Given the description of an element on the screen output the (x, y) to click on. 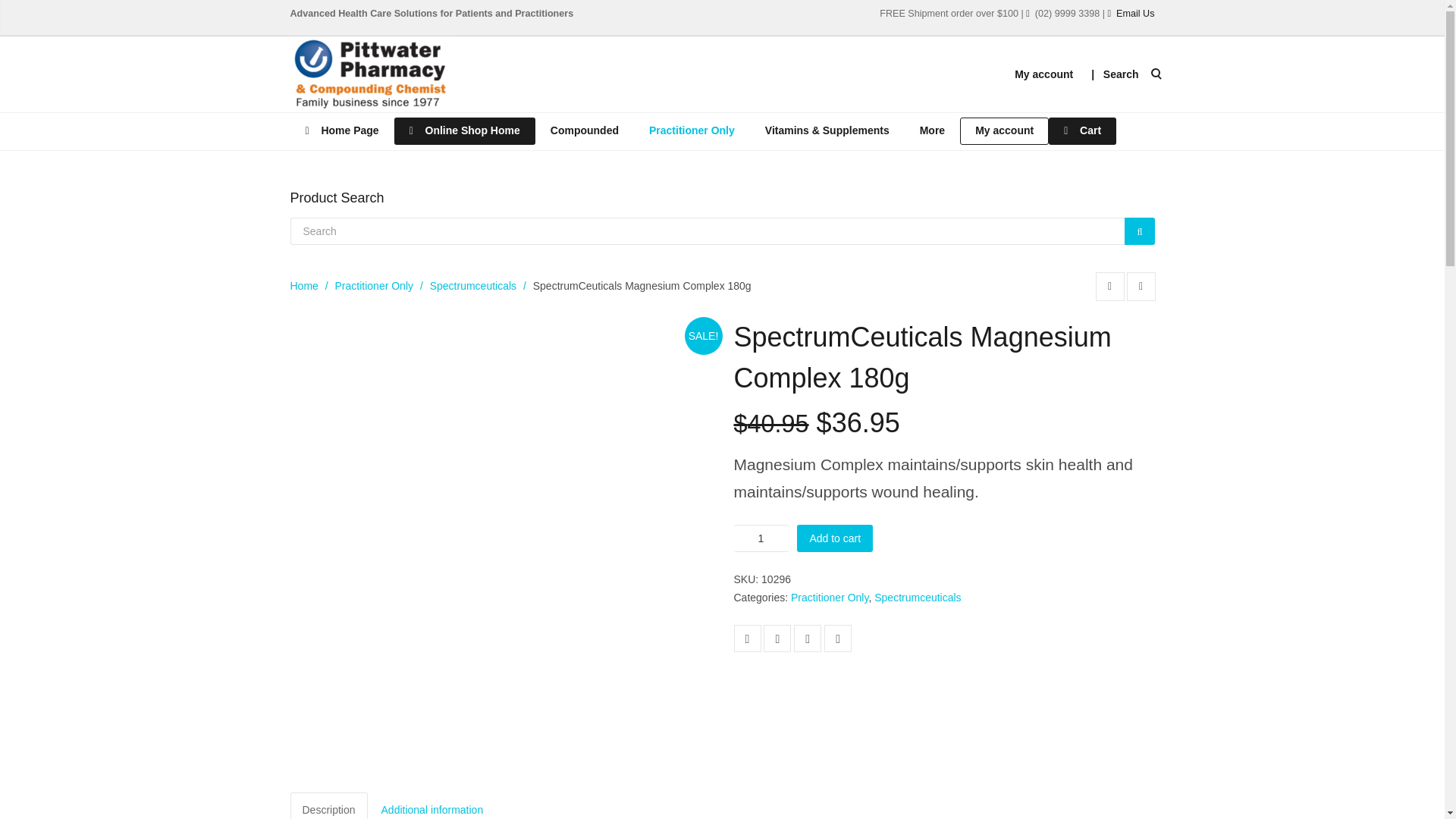
Email Us (1135, 13)
Compounded (584, 130)
 Home Page (341, 130)
 Cart (1082, 130)
Practitioner Only (691, 130)
1 (761, 538)
My account (1003, 130)
 Online Shop Home (464, 130)
My account (1043, 73)
More (931, 130)
